Given the description of an element on the screen output the (x, y) to click on. 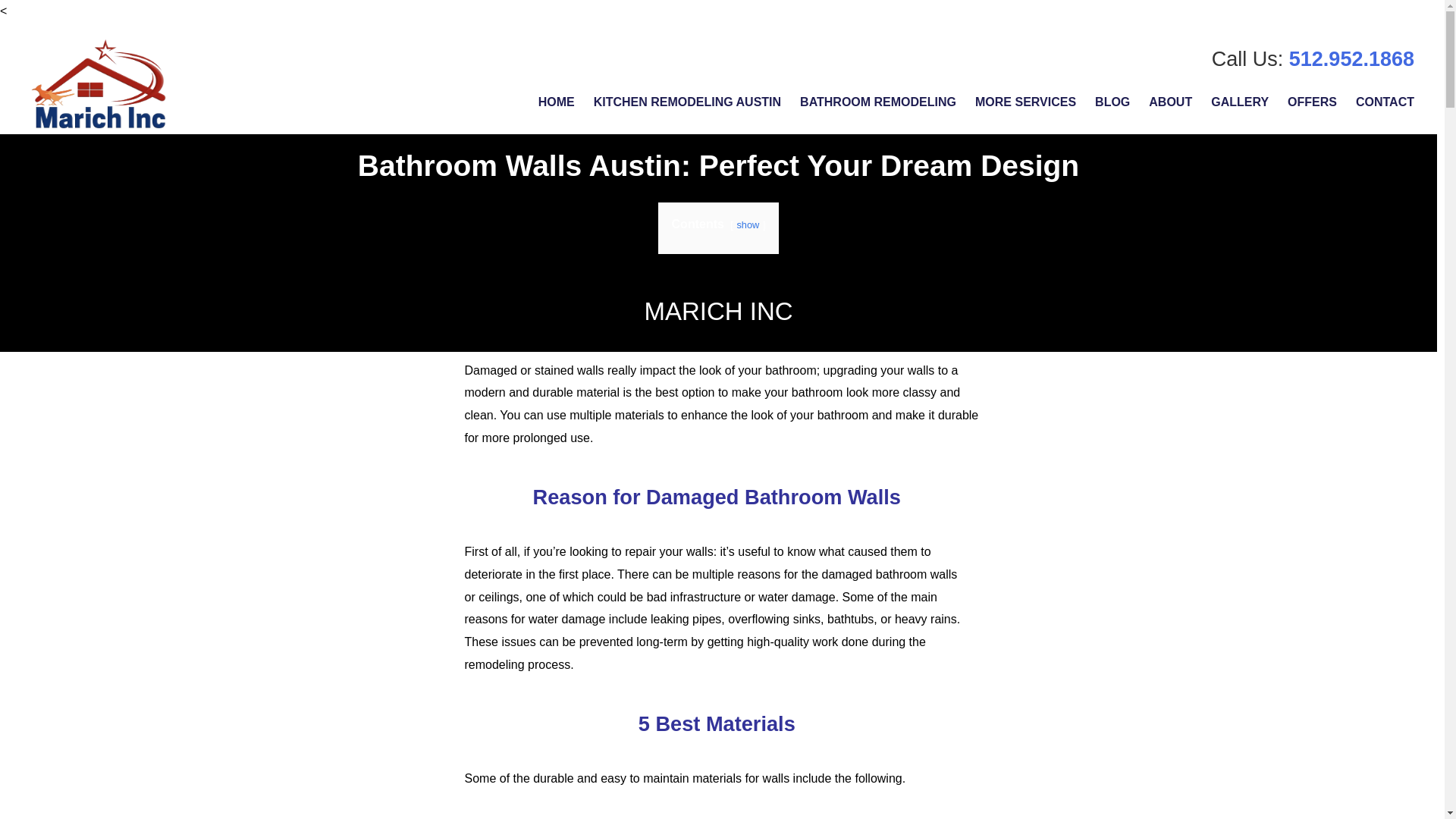
Call Us: (1249, 58)
HOME (556, 102)
KITCHEN REMODELING AUSTIN (687, 102)
BATHROOM REMODELING (877, 102)
512.952.1868 (1350, 58)
